Given the description of an element on the screen output the (x, y) to click on. 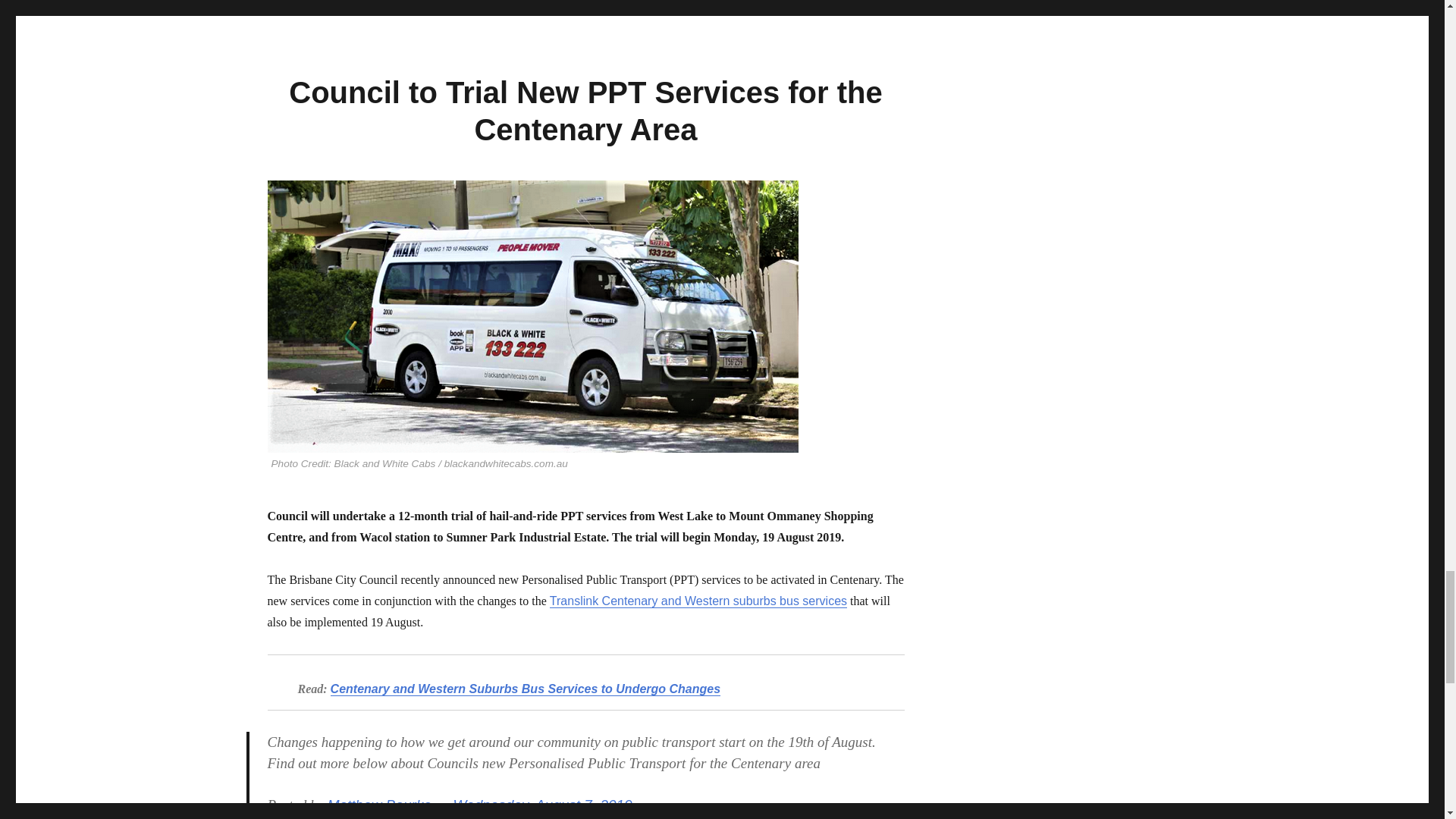
Translink Centenary and Western suburbs bus services (698, 600)
Council to Trial New PPT Services for the Centenary Area (585, 111)
Matthew Bourke (378, 804)
Wednesday, August 7, 2019 (541, 804)
